Given the description of an element on the screen output the (x, y) to click on. 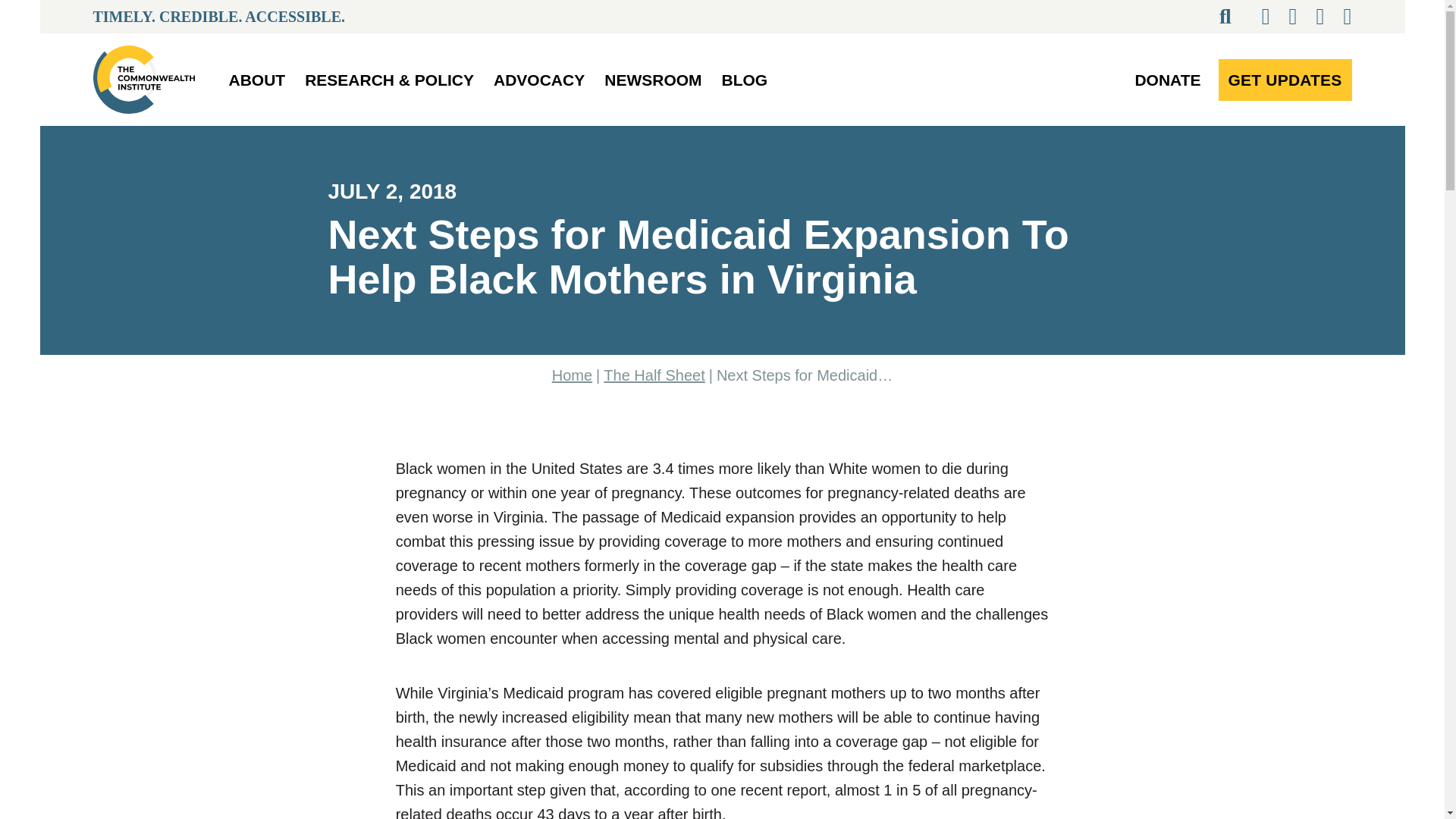
GET UPDATES (1284, 79)
NEWSROOM (652, 79)
DONATE (1167, 79)
The Half Sheet (654, 375)
Home (571, 375)
BLOG (745, 79)
